Given the description of an element on the screen output the (x, y) to click on. 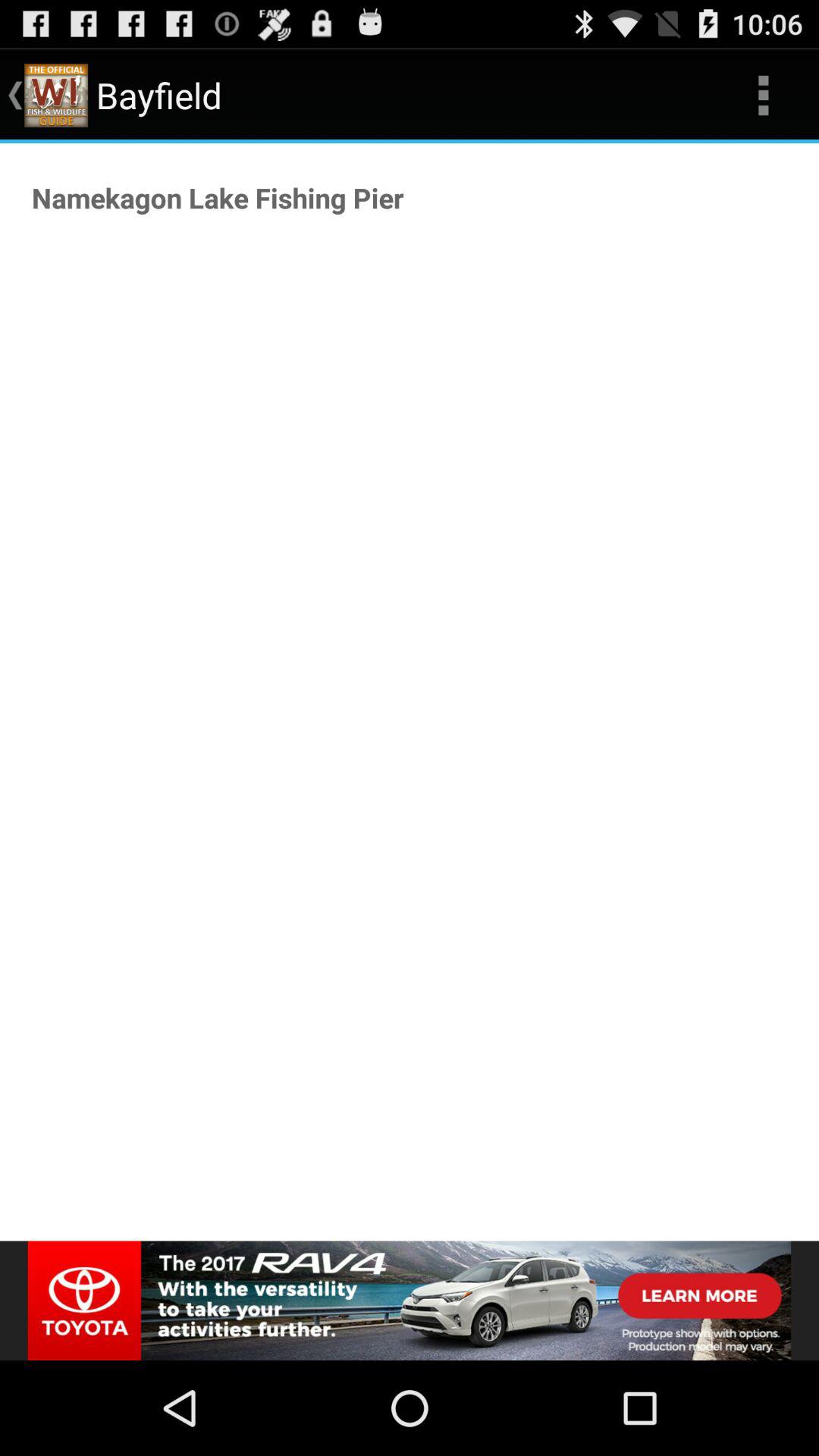
turn off the item at the top right corner (763, 95)
